Given the description of an element on the screen output the (x, y) to click on. 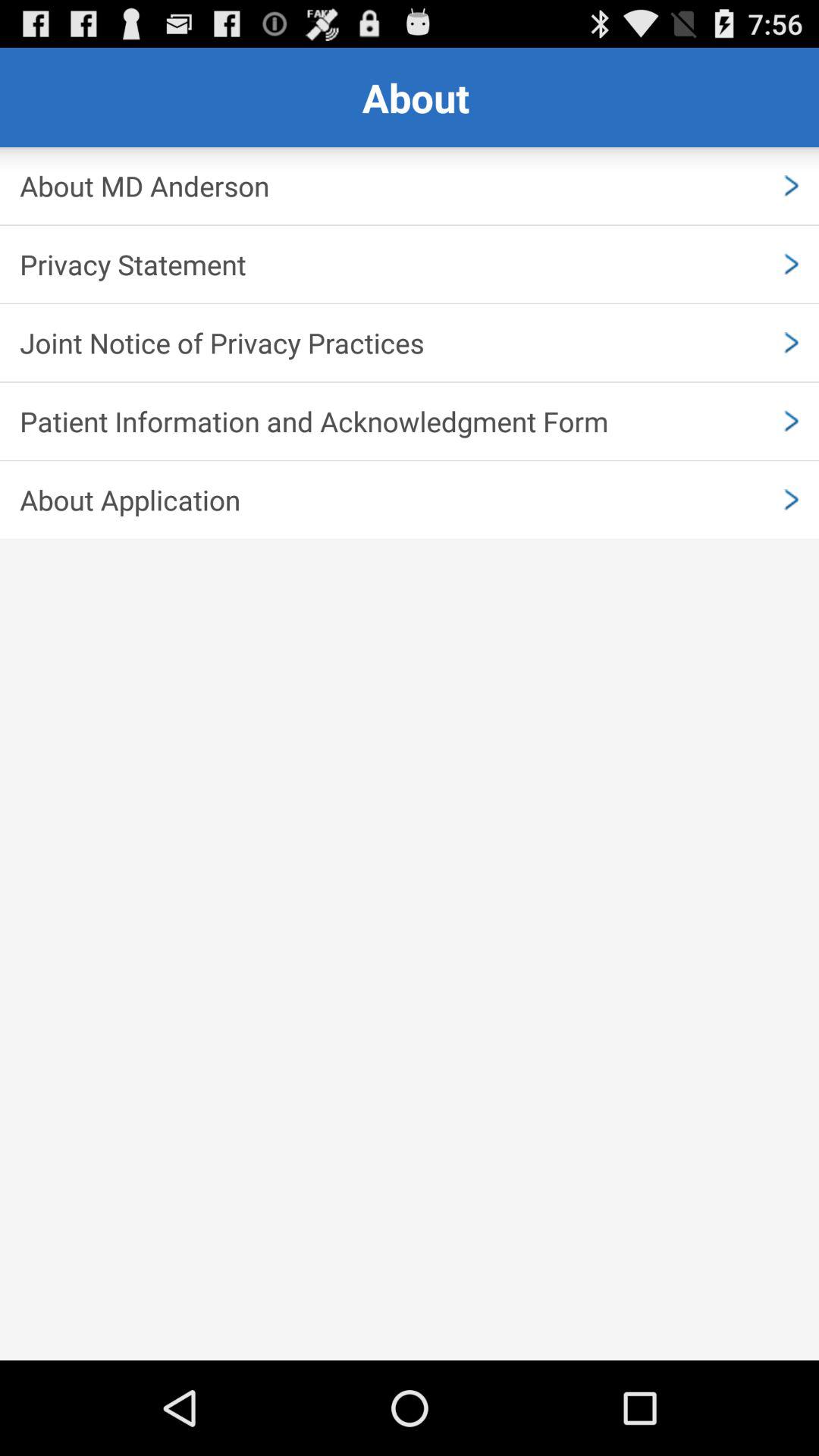
open app below the joint notice of icon (409, 421)
